Given the description of an element on the screen output the (x, y) to click on. 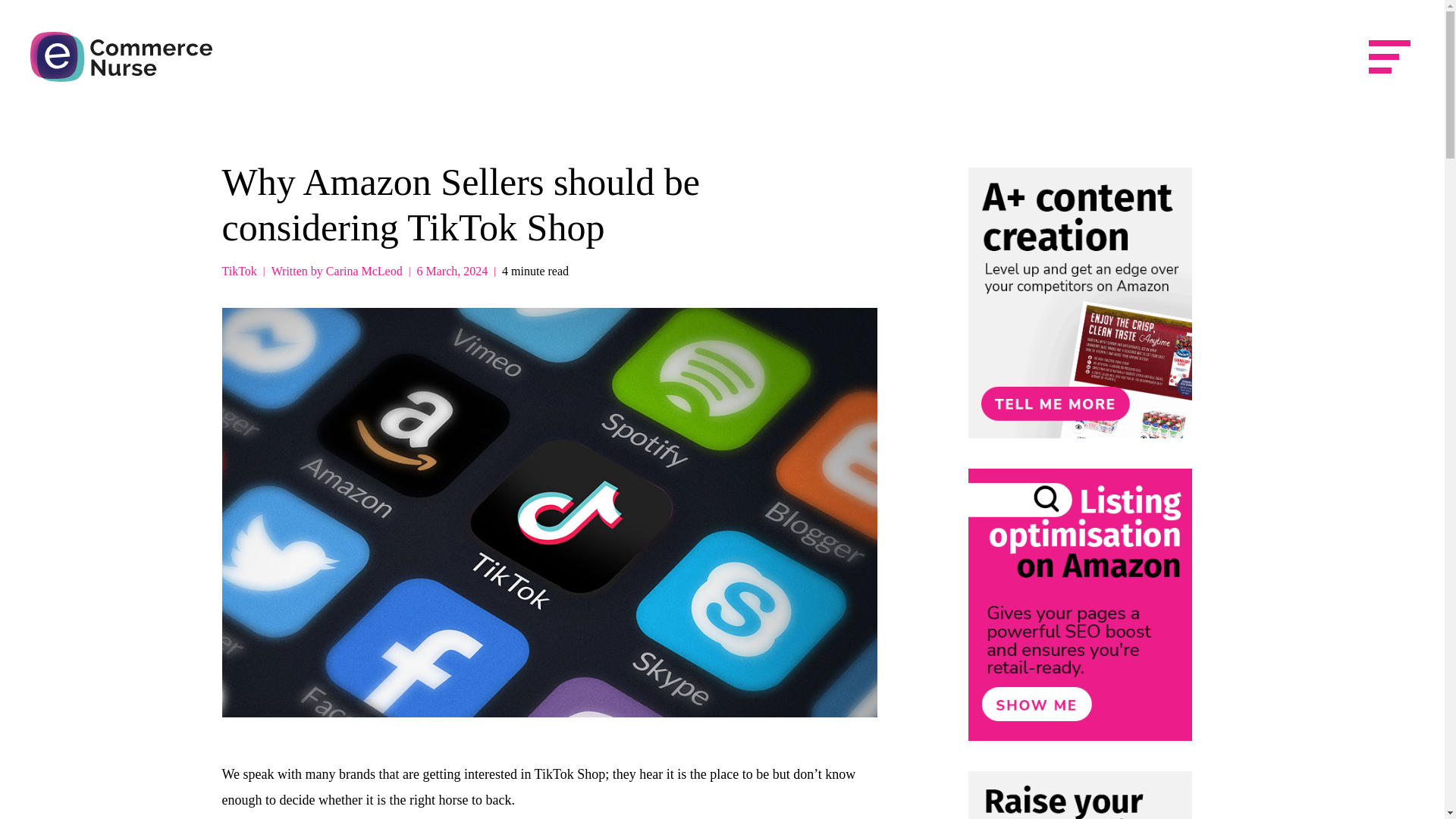
TikTok (238, 270)
